Given the description of an element on the screen output the (x, y) to click on. 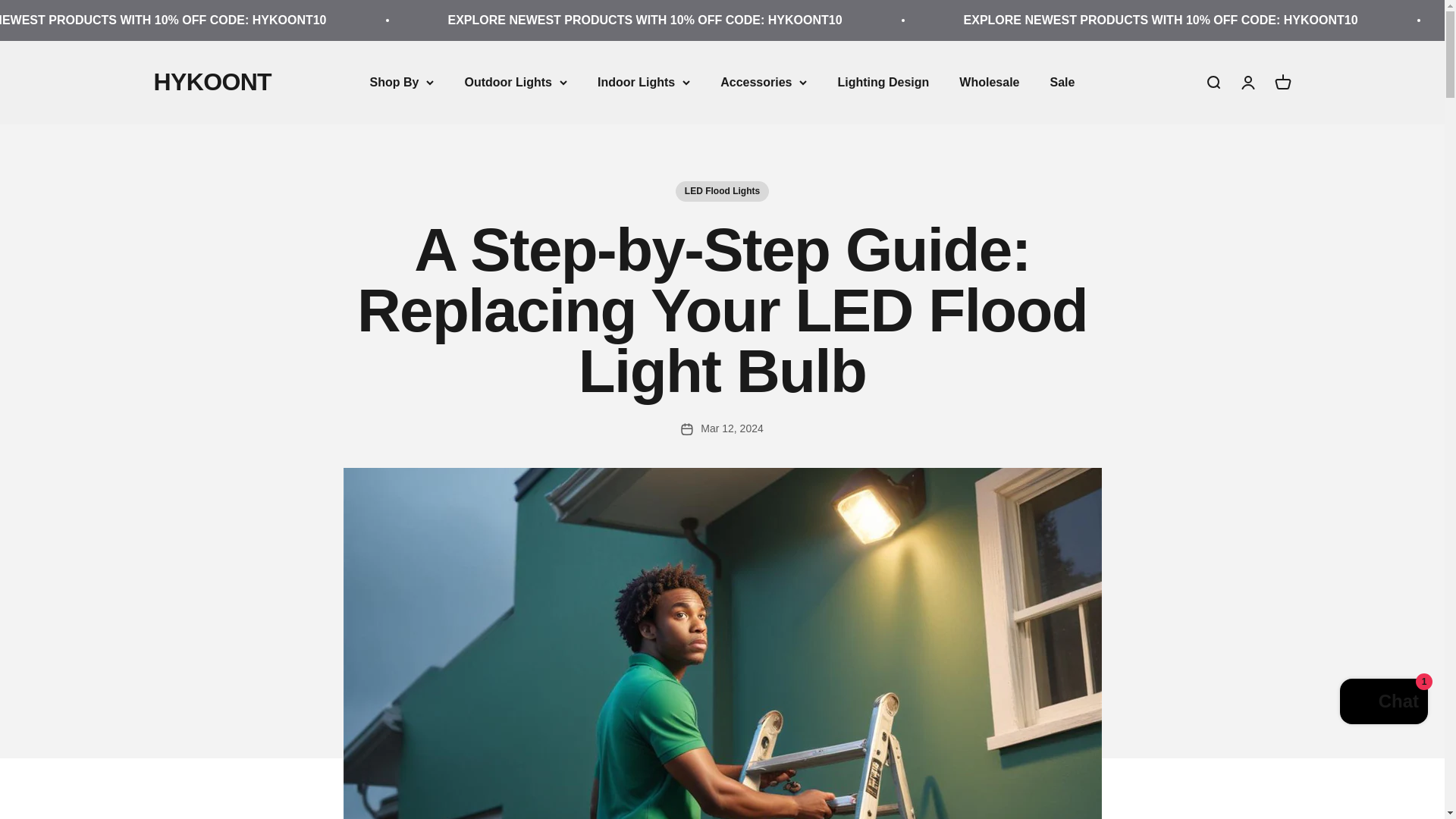
Shopify online store chat (1383, 703)
